Given the description of an element on the screen output the (x, y) to click on. 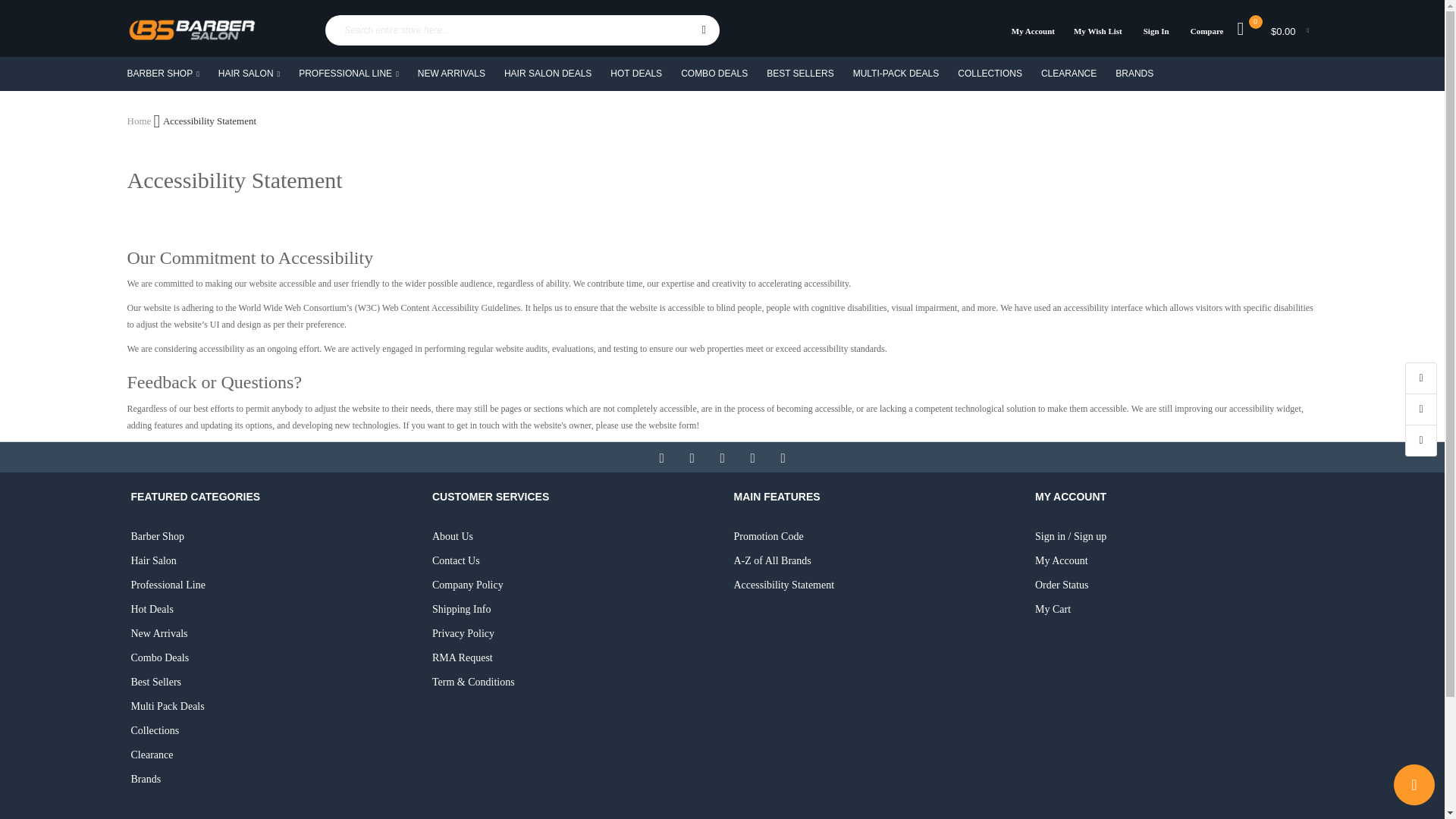
About Us (571, 536)
Compare Products (1203, 31)
Company Policy (571, 585)
Sign In (1155, 31)
Barber Shop (270, 536)
Best Sellers (270, 682)
New Arrivals (270, 633)
Search (703, 30)
Hair Salon (270, 561)
Combo Deals (270, 658)
Go to Home Page (141, 120)
BarberSalon (192, 29)
Collections (270, 730)
Contact Us (571, 561)
Professional Line (270, 585)
